Given the description of an element on the screen output the (x, y) to click on. 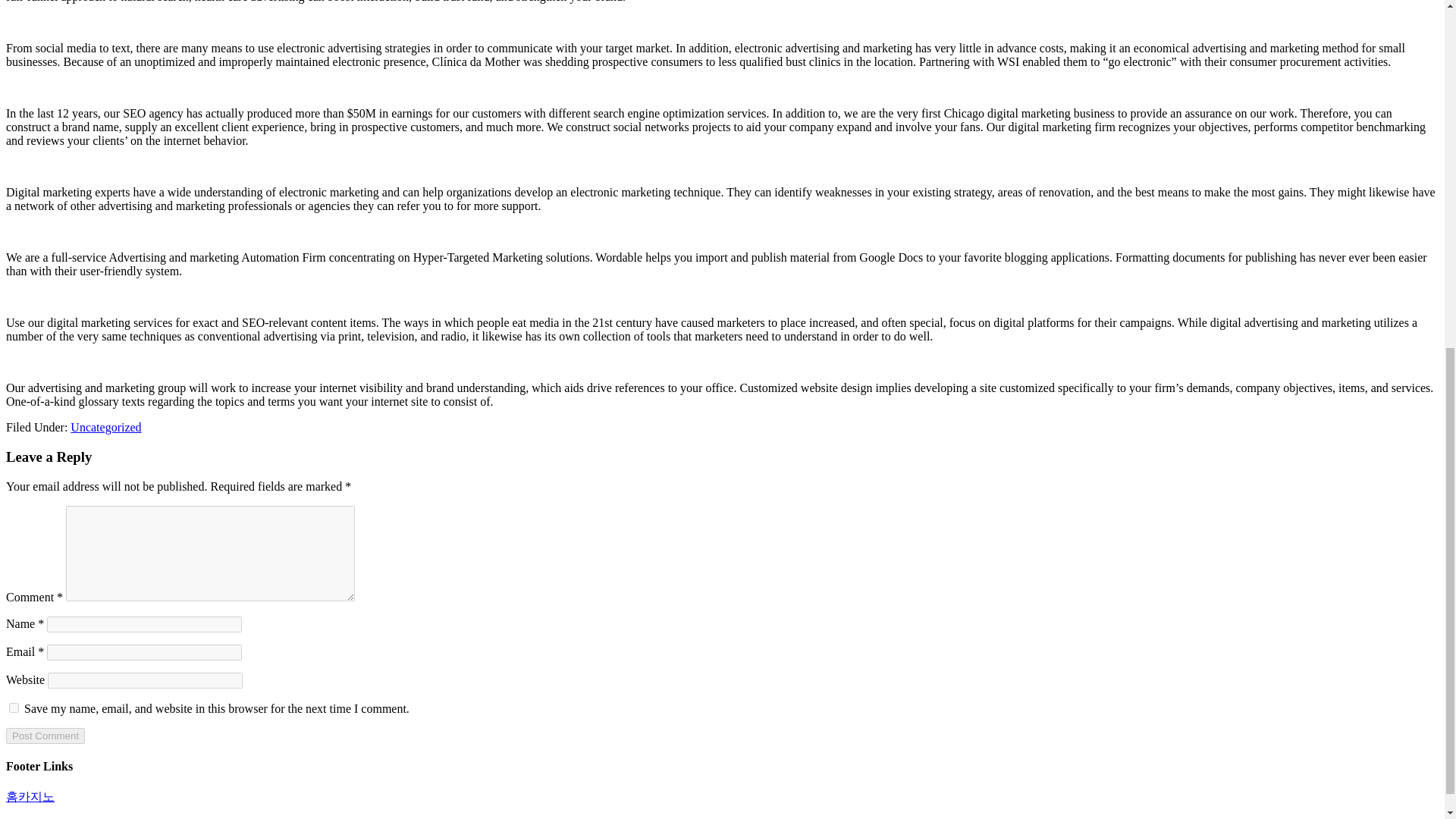
yes (13, 706)
Uncategorized (105, 427)
Post Comment (44, 735)
Post Comment (44, 735)
